Given the description of an element on the screen output the (x, y) to click on. 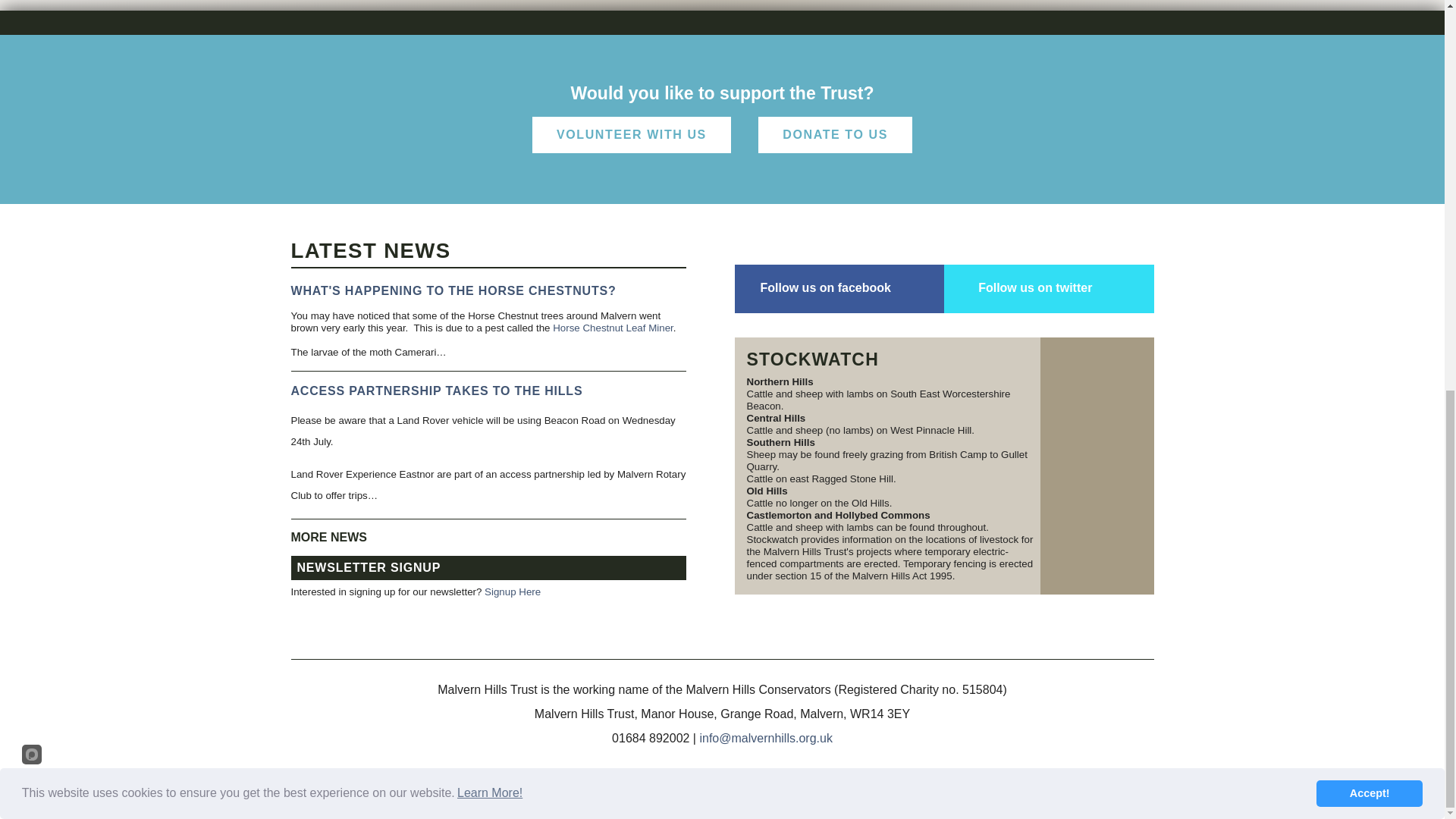
Signup for Stockwatch updates (1097, 466)
Accessibility (669, 799)
